Given the description of an element on the screen output the (x, y) to click on. 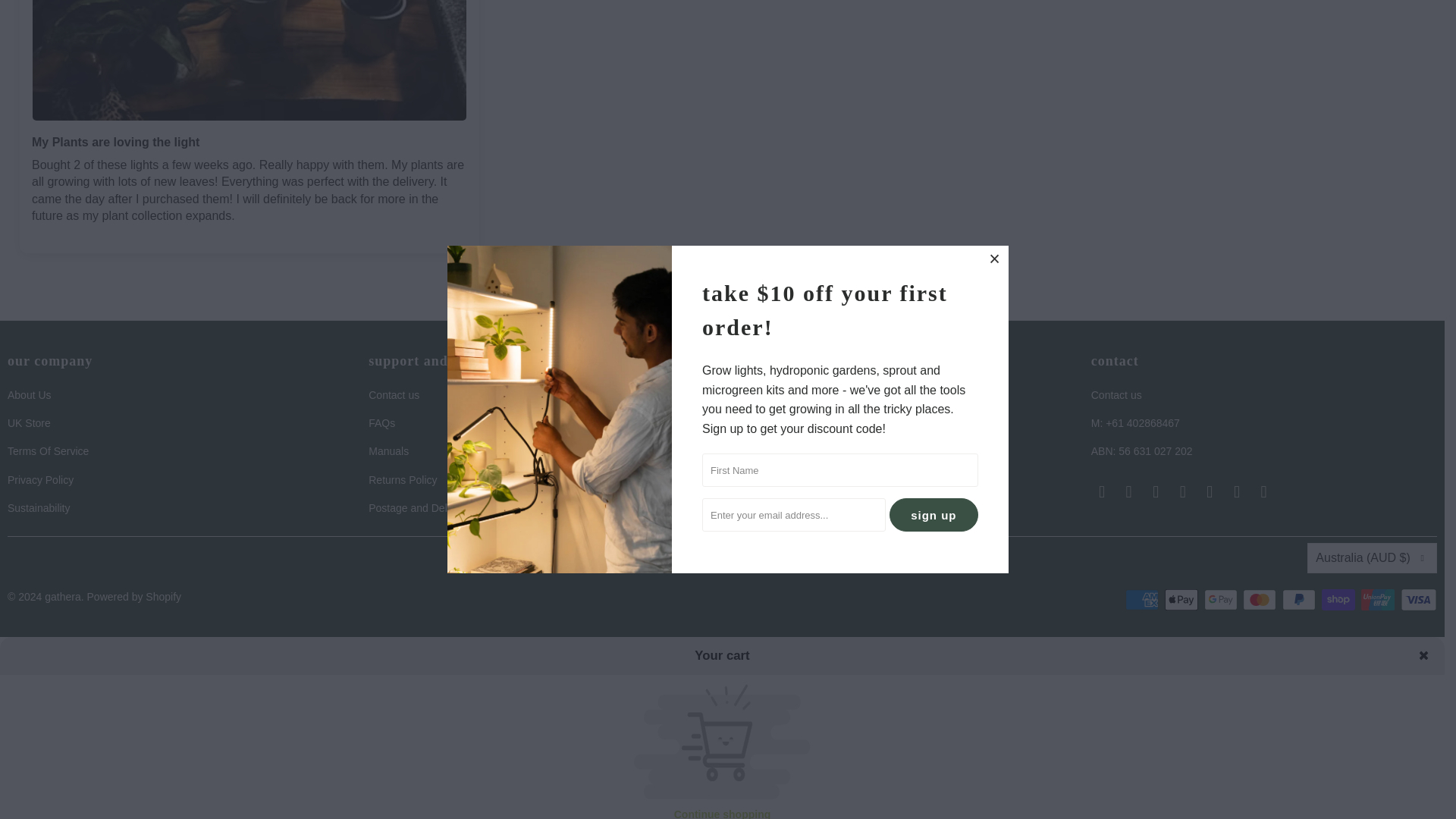
Visa (1418, 599)
Union Pay (1379, 599)
Mastercard (1261, 599)
Google Pay (1222, 599)
Shop Pay (1340, 599)
Apple Pay (1182, 599)
PayPal (1300, 599)
American Express (1143, 599)
